Given the description of an element on the screen output the (x, y) to click on. 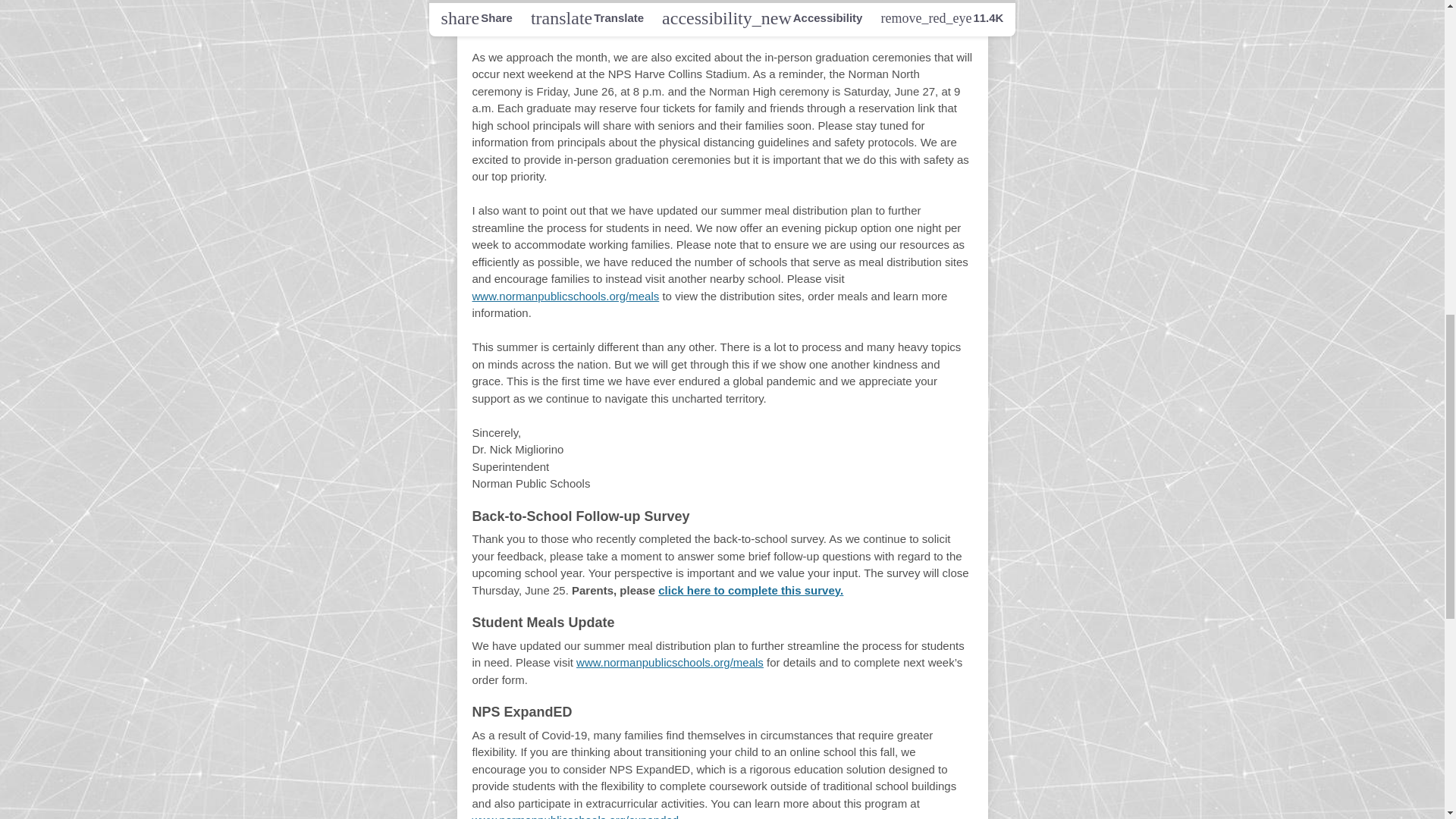
Click here to complete the parent survey. (713, 14)
click here to complete this survey. (750, 590)
